Given the description of an element on the screen output the (x, y) to click on. 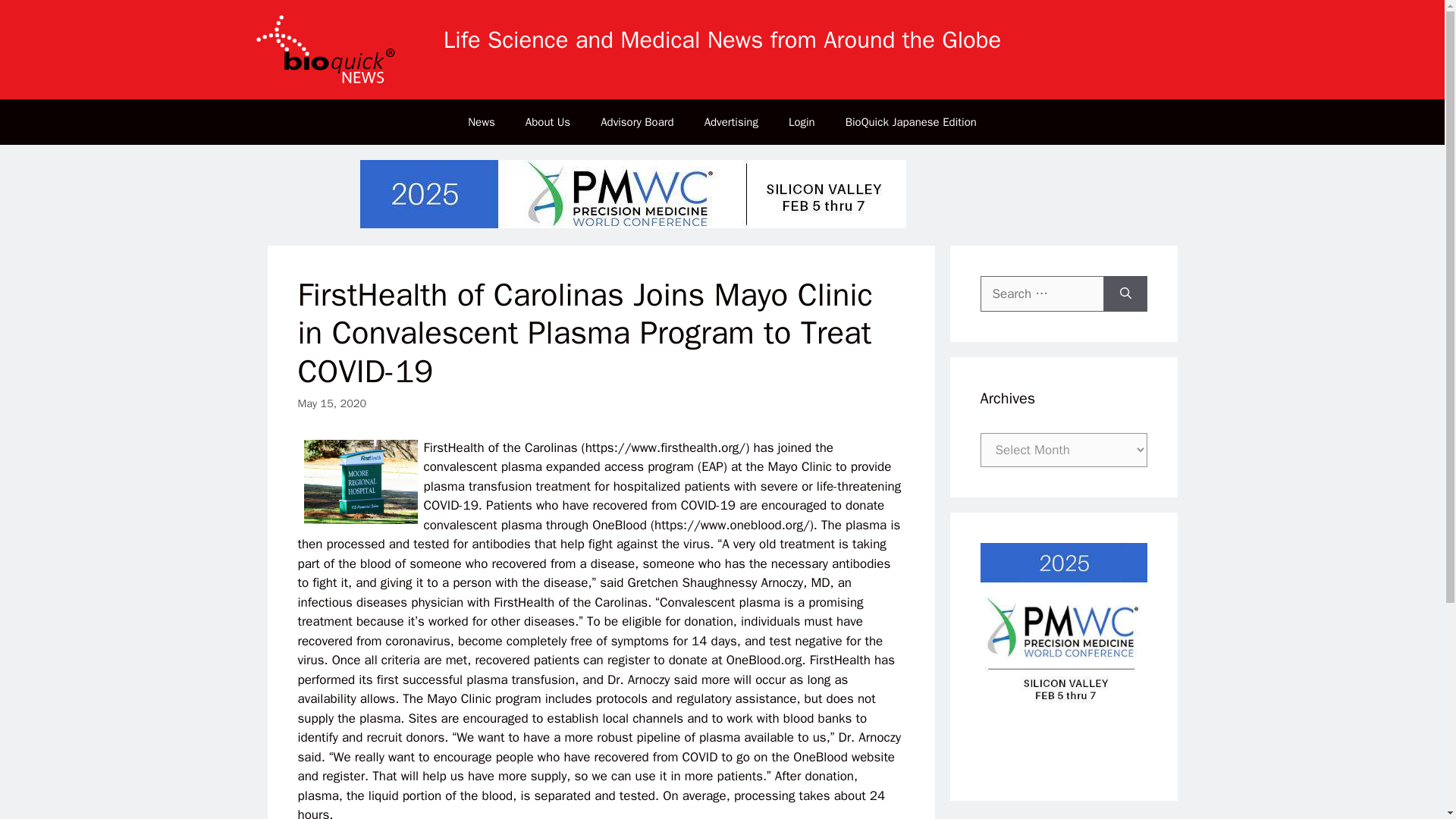
Advertising (730, 121)
News (481, 121)
BioQuick Japanese Edition (910, 121)
Login (801, 121)
Search for: (1041, 294)
About Us (548, 121)
Advisory Board (636, 121)
